Given the description of an element on the screen output the (x, y) to click on. 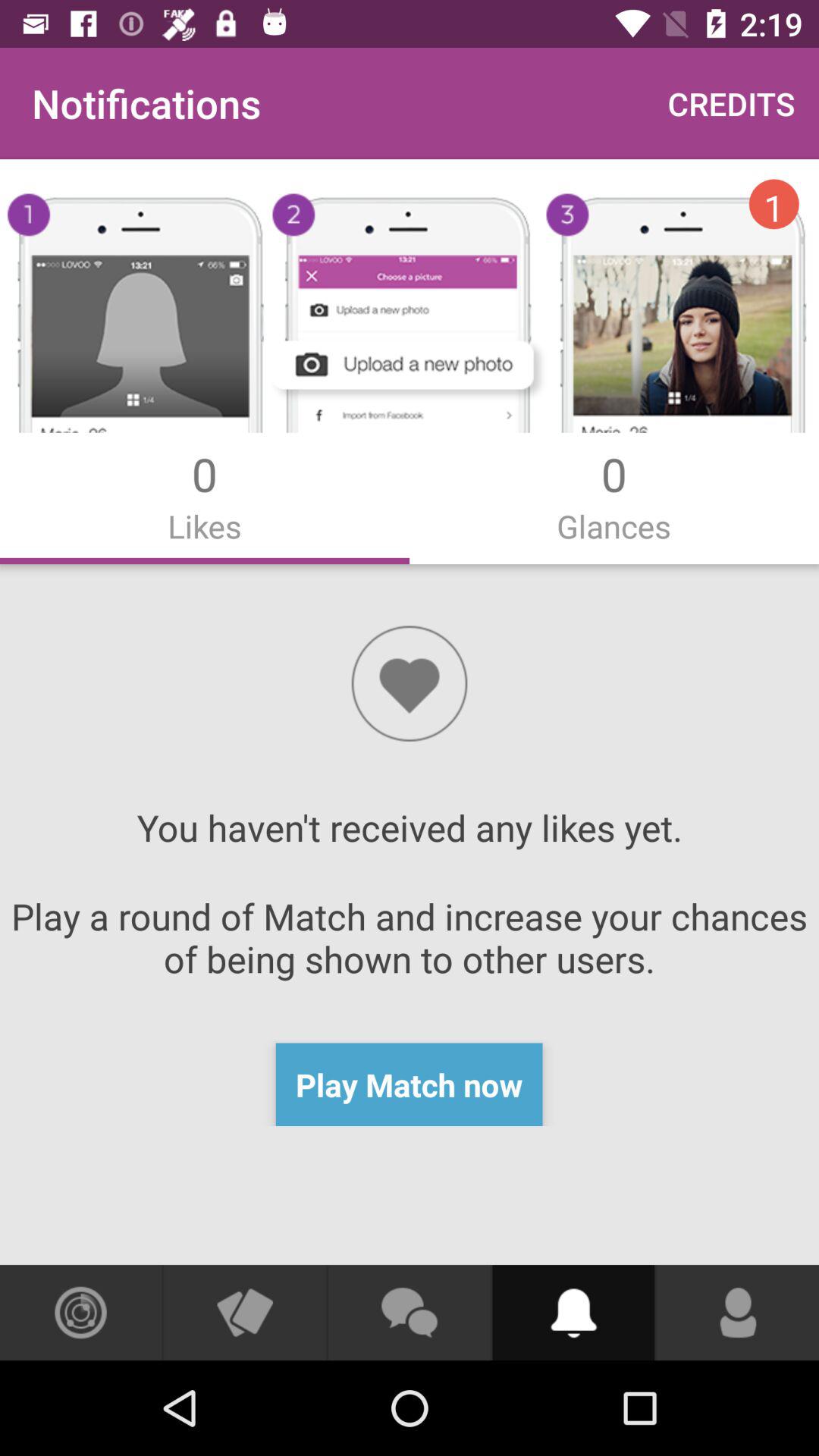
open profile settings (737, 1312)
